Given the description of an element on the screen output the (x, y) to click on. 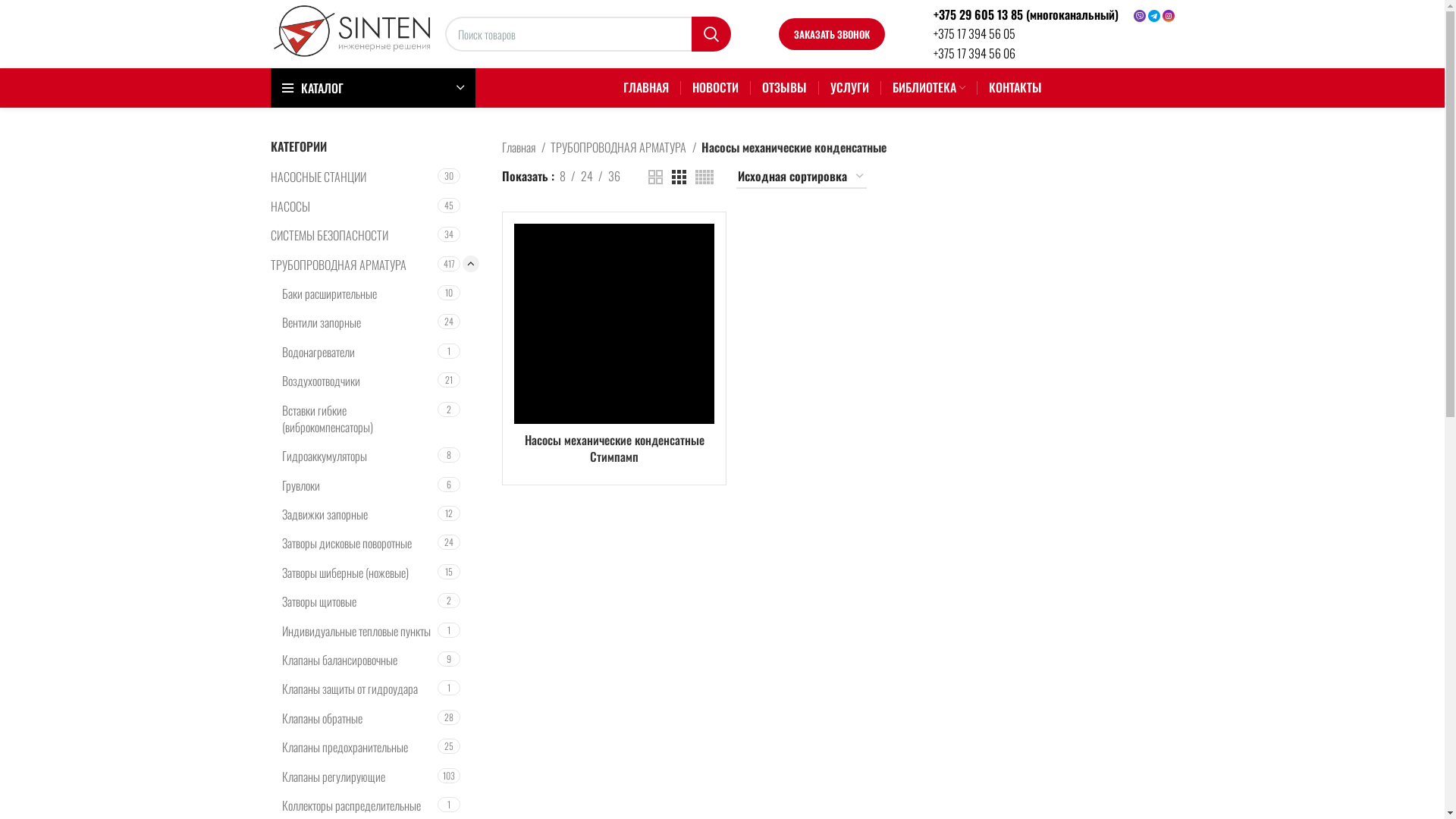
24 Element type: text (586, 176)
8 Element type: text (562, 176)
36 Element type: text (613, 176)
